Given the description of an element on the screen output the (x, y) to click on. 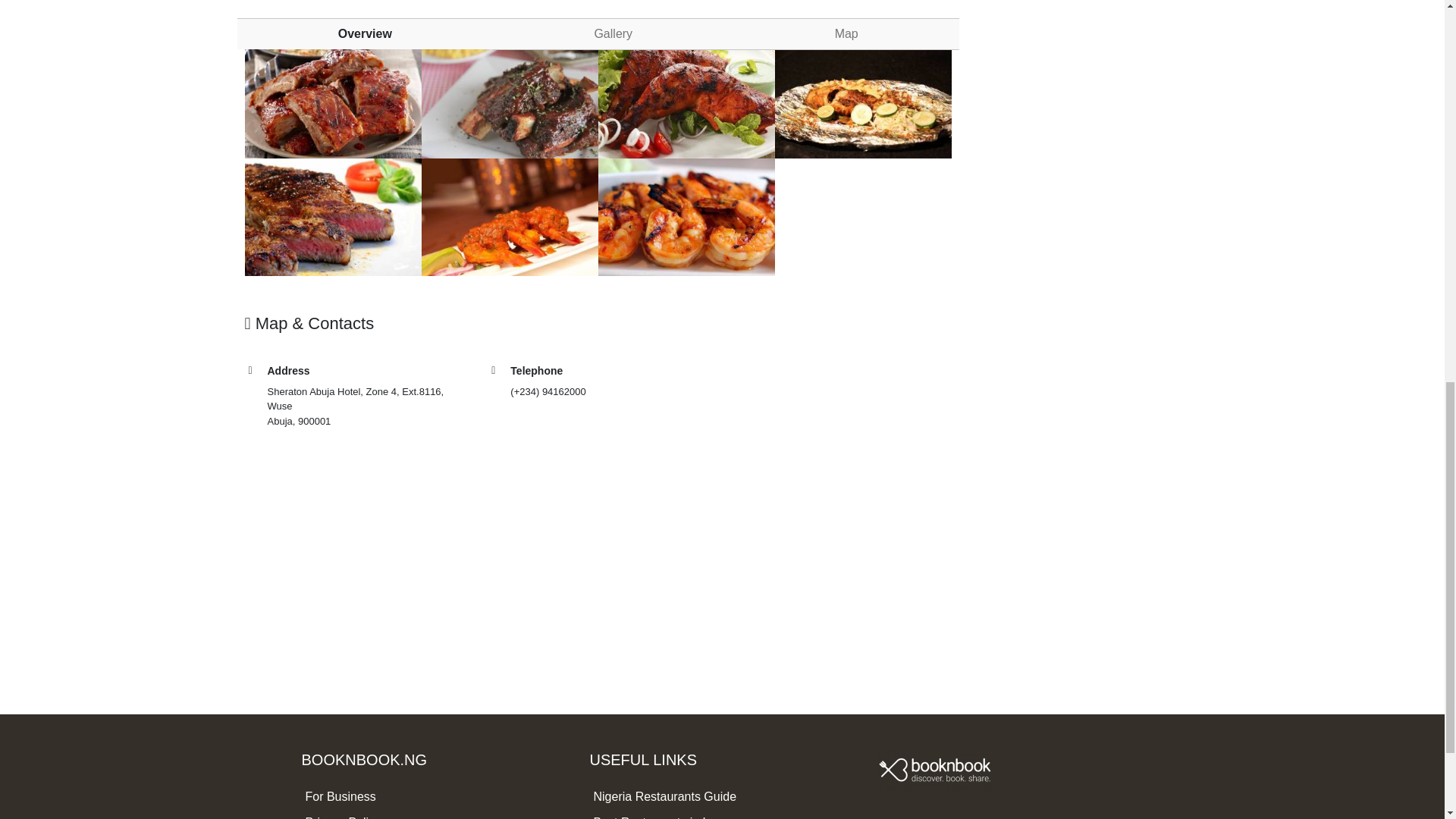
For Business (339, 796)
Privacy Policy (342, 817)
Nigeria Restaurants Guide (664, 796)
Best Restaurants in Lagos (663, 817)
